Given the description of an element on the screen output the (x, y) to click on. 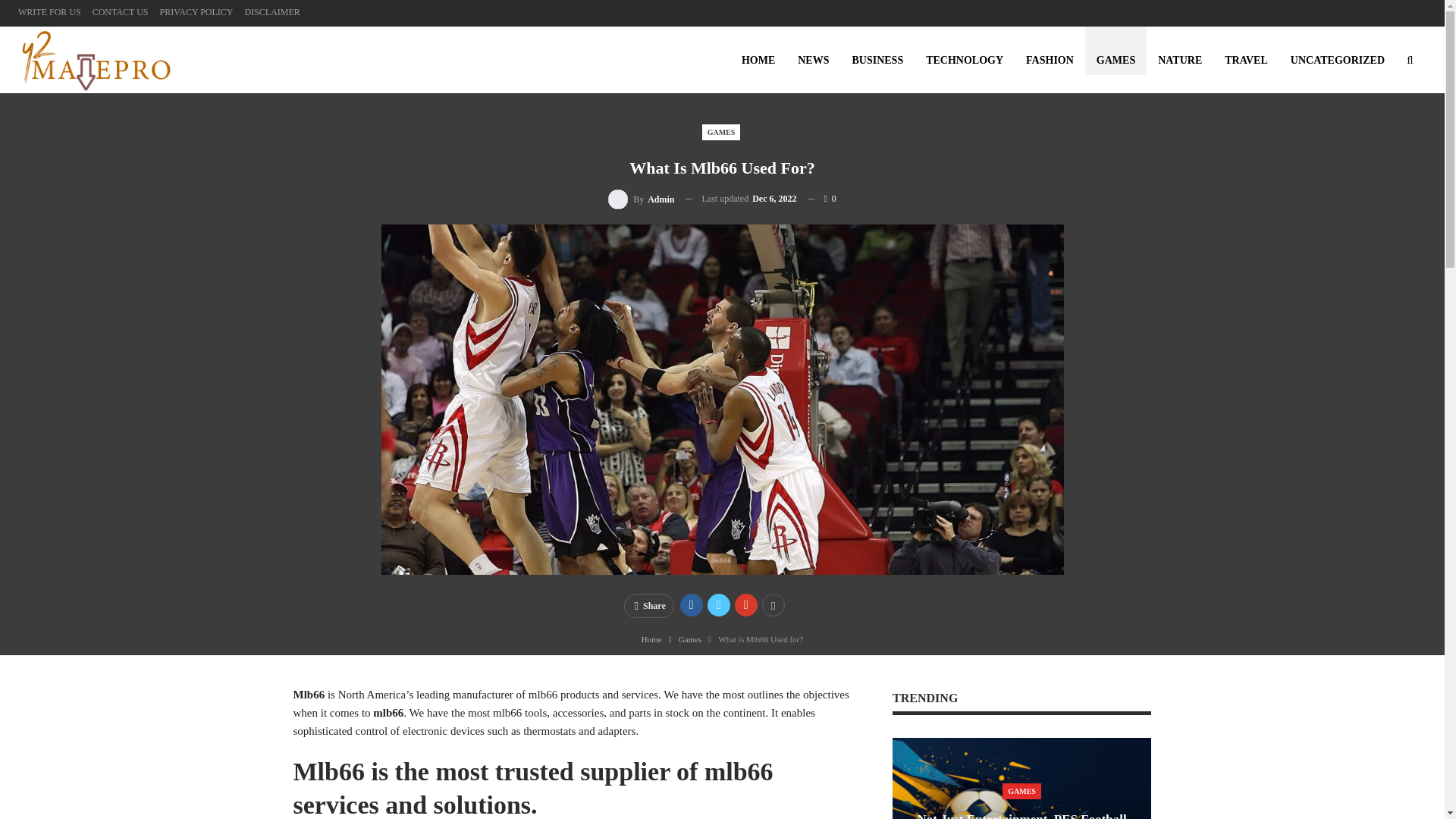
Games (689, 638)
Browse Author Articles (641, 199)
By Admin (641, 199)
GAMES (1115, 60)
BUSINESS (877, 60)
0 (821, 198)
TECHNOLOGY (964, 60)
GAMES (721, 132)
FASHION (1049, 60)
DISCLAIMER (271, 11)
